Given the description of an element on the screen output the (x, y) to click on. 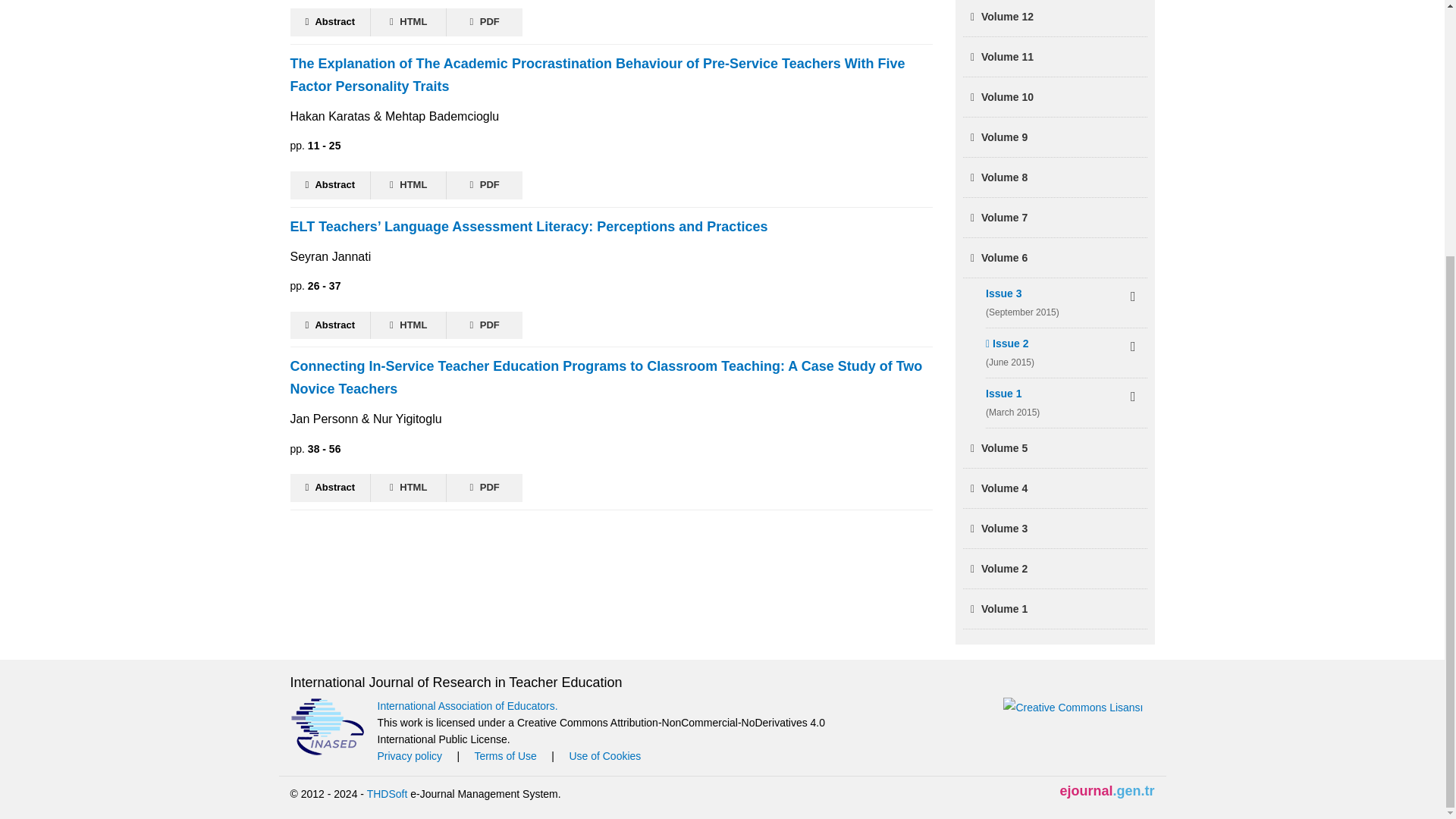
PDF (484, 185)
Abstract (330, 325)
PDF (484, 22)
HTML (408, 325)
PDF (484, 325)
Abstract (330, 488)
HTML (408, 185)
HTML (408, 22)
Abstract (330, 22)
PDF (484, 488)
Abstract (330, 185)
HTML (408, 488)
